Given the description of an element on the screen output the (x, y) to click on. 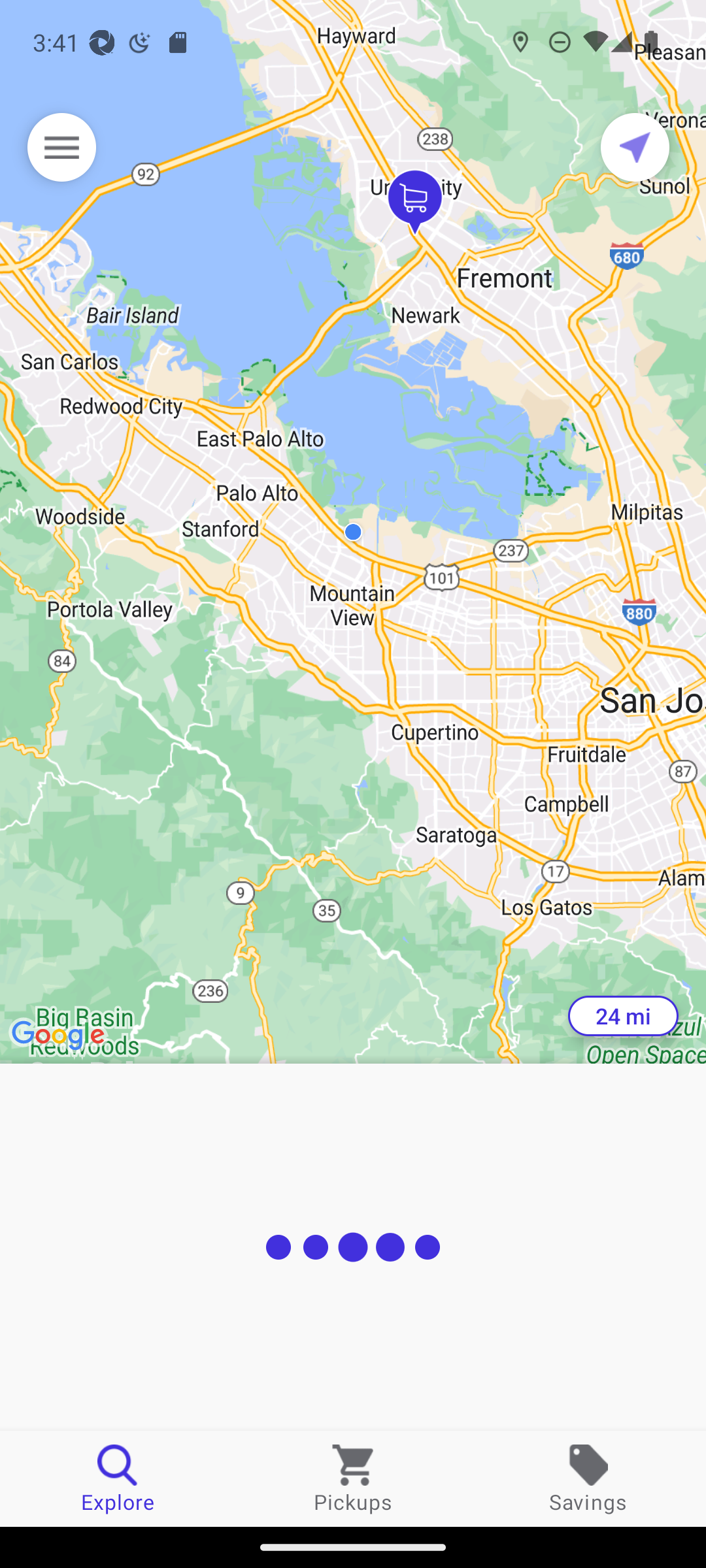
Menu (61, 146)
Current location (634, 146)
24 mi (623, 1015)
Pickups (352, 1478)
Savings (588, 1478)
